Given the description of an element on the screen output the (x, y) to click on. 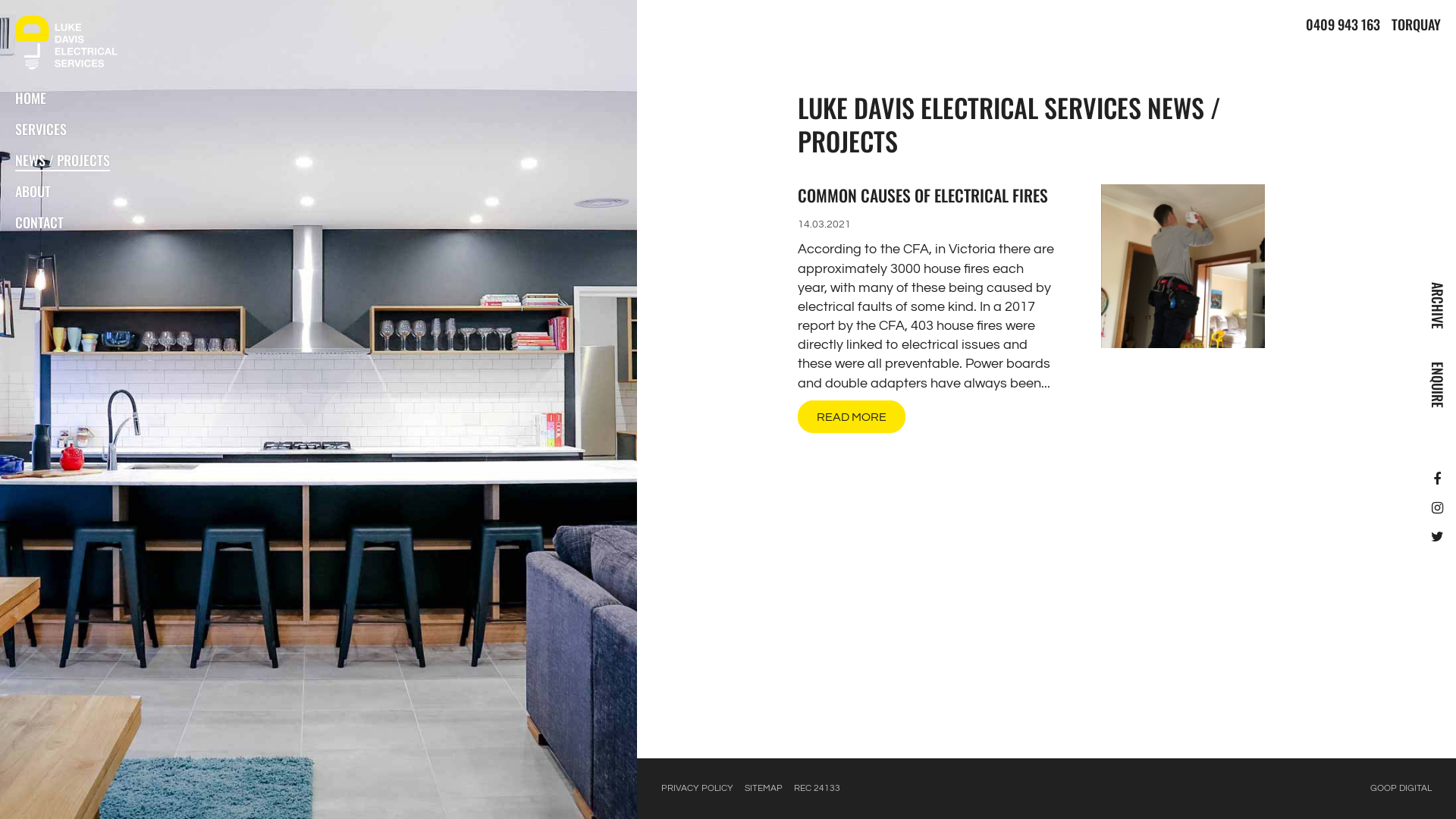
SITEMAP Element type: text (763, 788)
READ MORE Element type: text (851, 416)
ABOUT Element type: text (32, 192)
NEWS / PROJECTS Element type: text (62, 160)
CONTACT Element type: text (39, 223)
COMMON CAUSES OF ELECTRICAL FIRES Element type: text (922, 194)
SERVICES Element type: text (40, 129)
HOME Element type: text (30, 98)
PRIVACY POLICY Element type: text (697, 788)
